Given the description of an element on the screen output the (x, y) to click on. 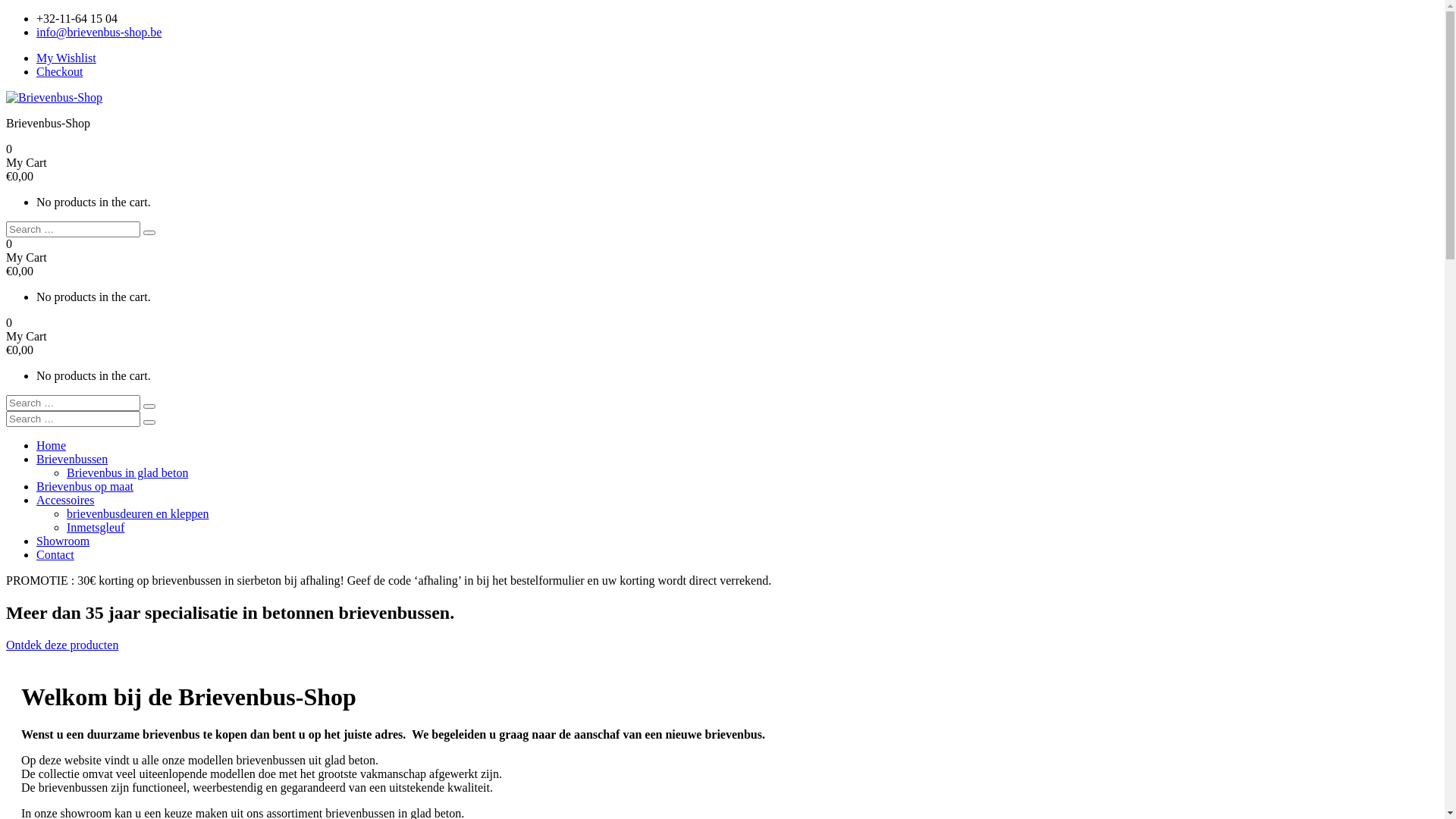
Checkout Element type: text (59, 71)
Search for: Element type: hover (73, 418)
brievenbusdeuren en kleppen Element type: text (137, 513)
Ontdek deze producten Element type: text (62, 644)
Search for: Element type: hover (73, 229)
Contact Element type: text (55, 554)
Brievenbus in glad beton Element type: text (127, 472)
Brievenbus op maat Element type: text (84, 486)
Showroom Element type: text (62, 540)
info@brievenbus-shop.be Element type: text (98, 31)
My Wishlist Element type: text (66, 57)
Accessoires Element type: text (65, 499)
Home Element type: text (50, 445)
Brievenbussen Element type: text (71, 458)
Inmetsgleuf Element type: text (95, 526)
Search for: Element type: hover (73, 403)
